Given the description of an element on the screen output the (x, y) to click on. 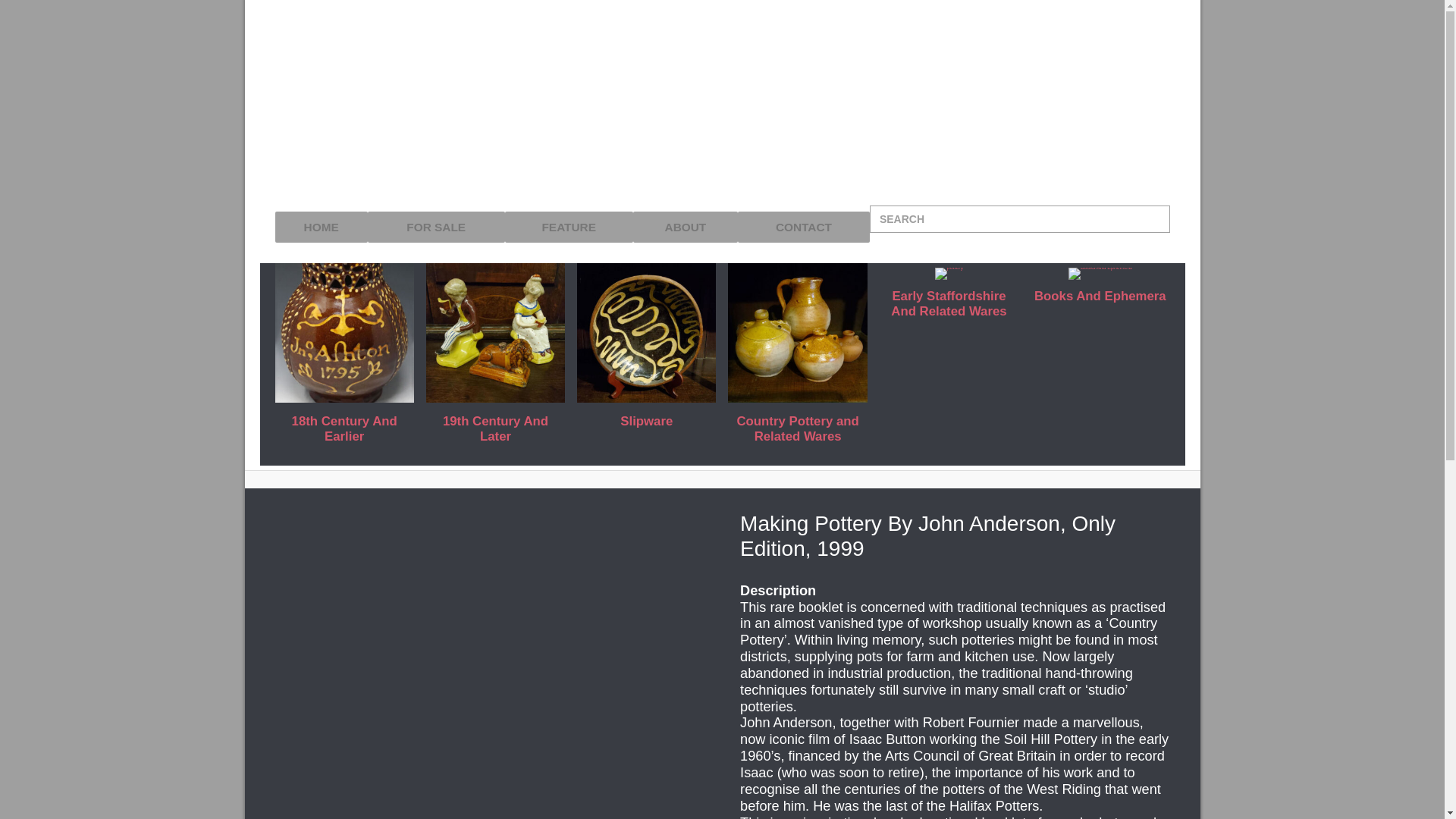
Books And Ephemera (1099, 287)
FOR SALE (436, 227)
HOME (320, 227)
ABOUT (685, 227)
Early Staffordshire And Related Wares (948, 295)
CONTACT (803, 227)
FEATURE (569, 227)
